Given the description of an element on the screen output the (x, y) to click on. 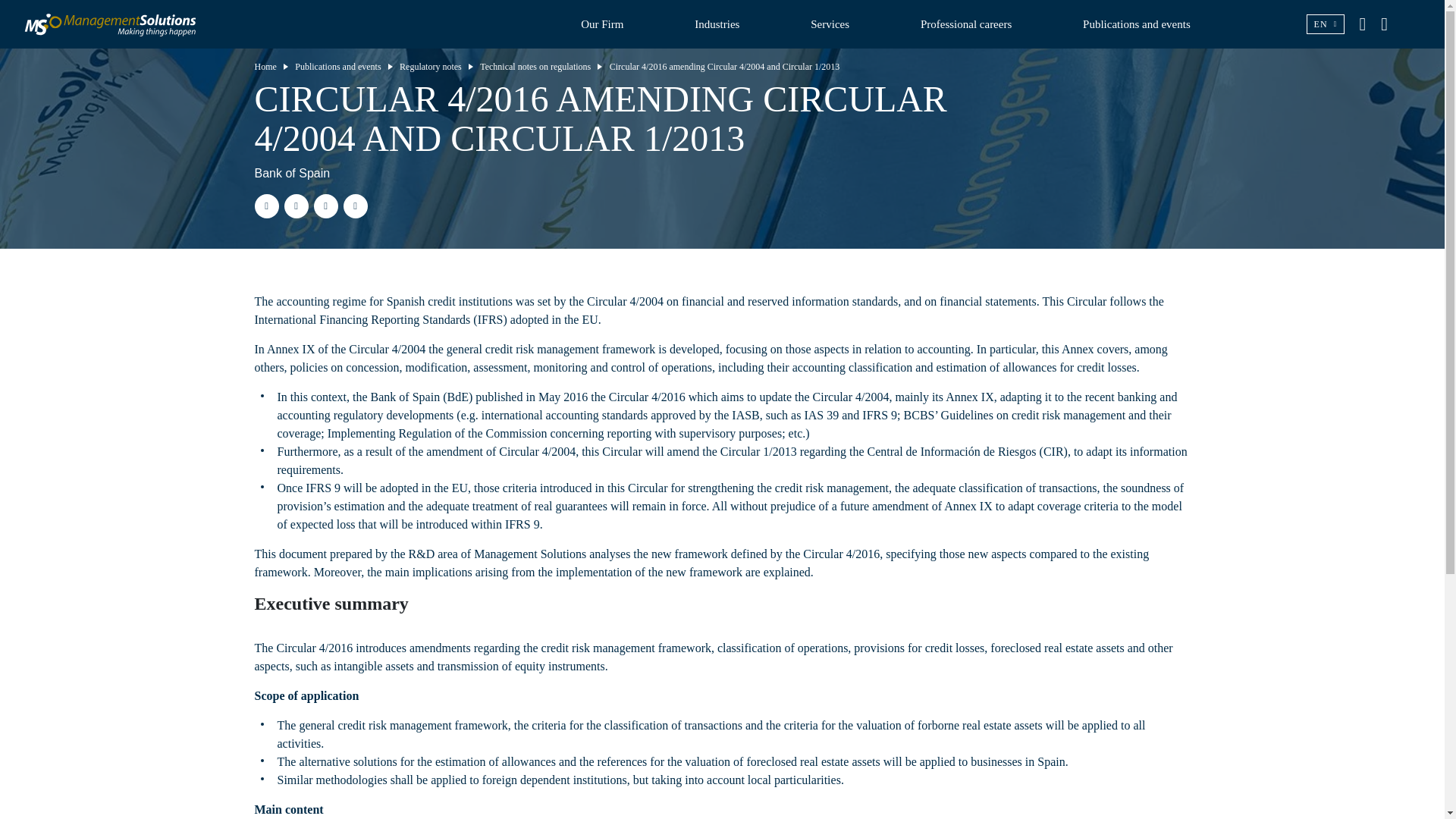
Home (265, 65)
Professional careers (965, 24)
Our Firm (601, 24)
Publications and events (337, 65)
Technical notes on regulations (535, 65)
Regulatory notes (429, 65)
Services (829, 24)
Publications and events (1137, 24)
Industries (716, 24)
